Given the description of an element on the screen output the (x, y) to click on. 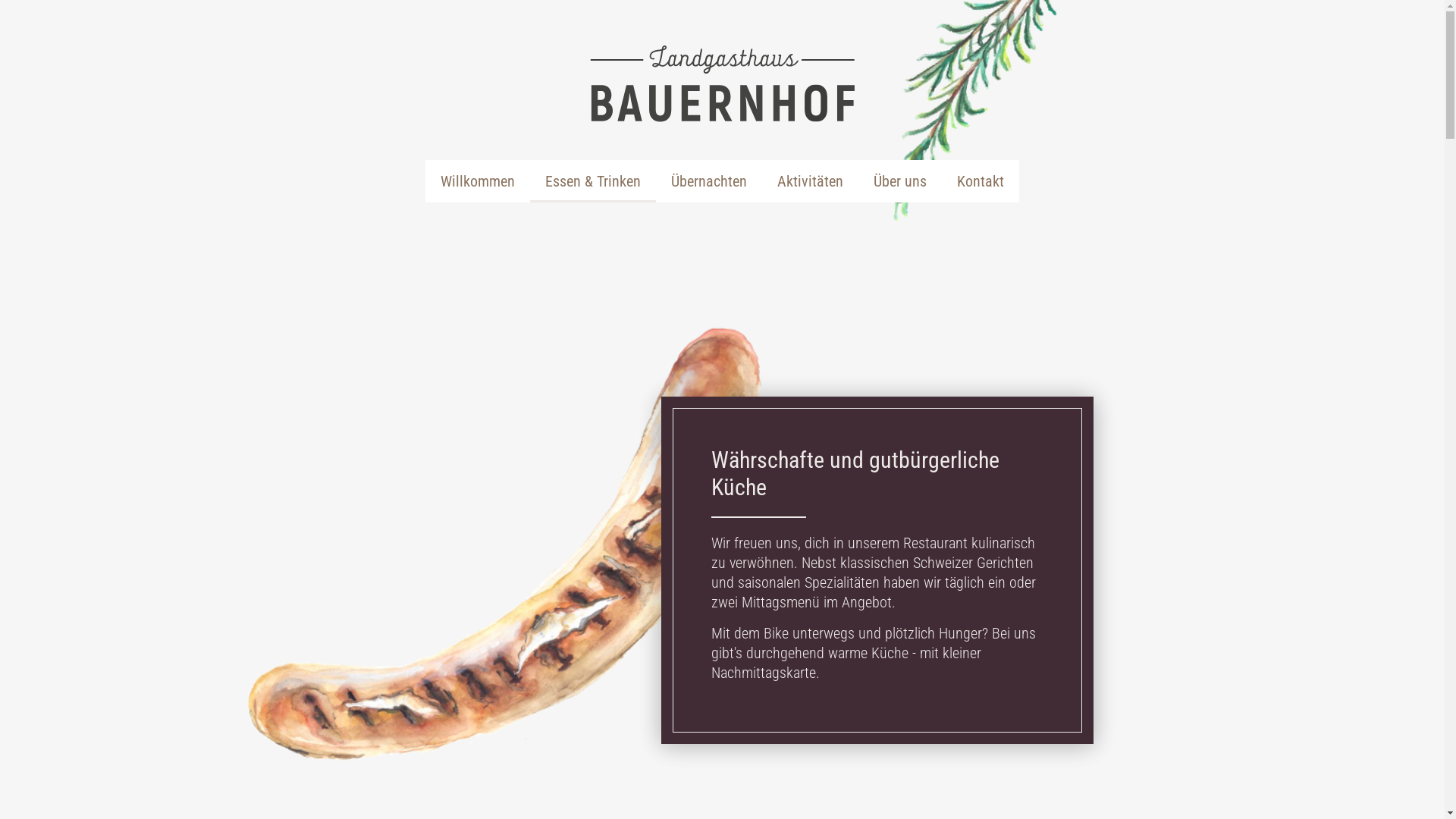
Kontakt Element type: text (980, 181)
Willkommen Element type: text (477, 181)
Essen & Trinken Element type: text (592, 181)
